Given the description of an element on the screen output the (x, y) to click on. 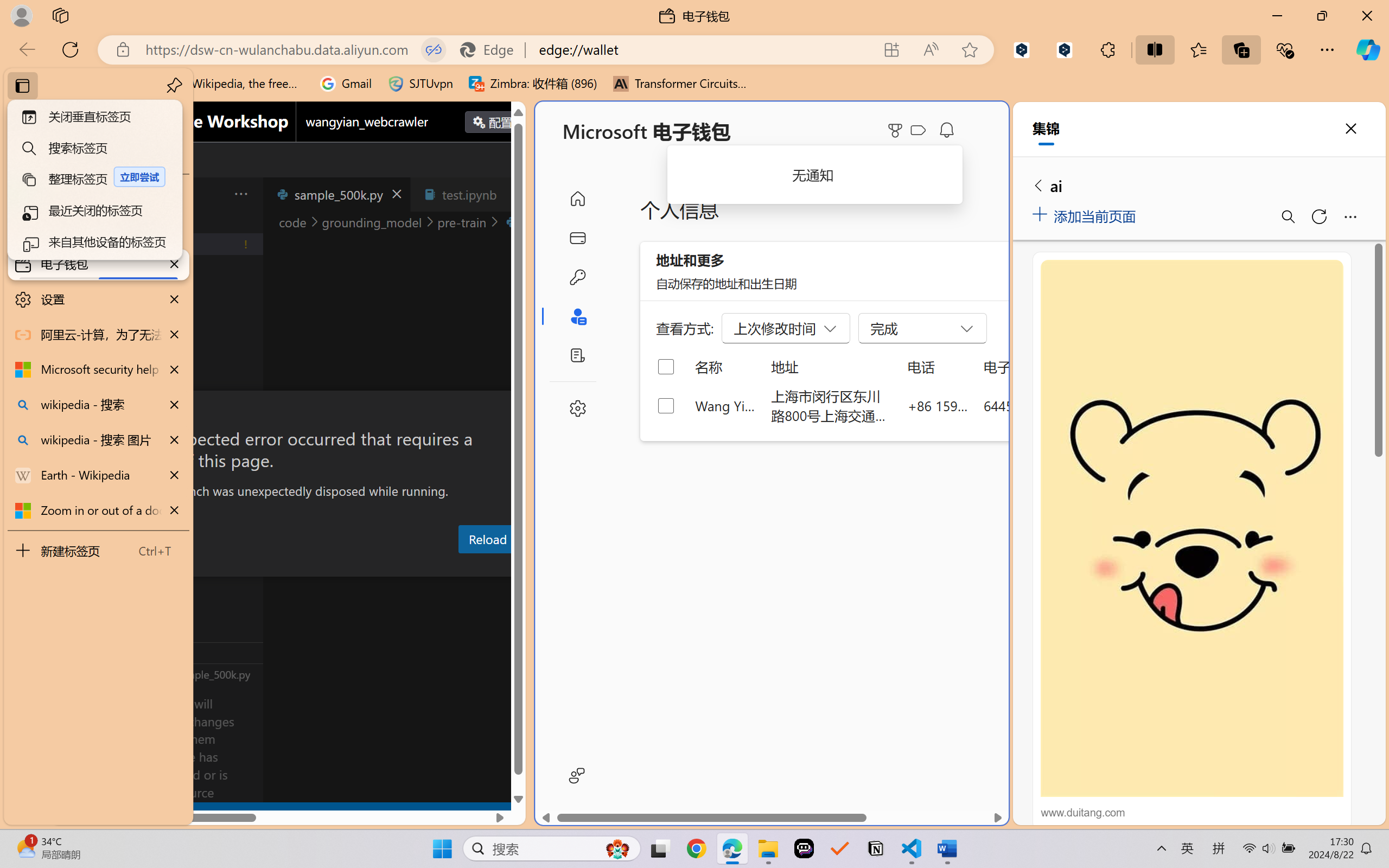
Application Menu (73, 194)
Microsoft Rewards (896, 129)
Microsoft Cashback (920, 130)
Tab actions (512, 194)
wangyian_dsw - DSW (97, 194)
Explorer (Ctrl+Shift+E) (73, 234)
Class: menubar compact overflow-menu-only (73, 194)
